Given the description of an element on the screen output the (x, y) to click on. 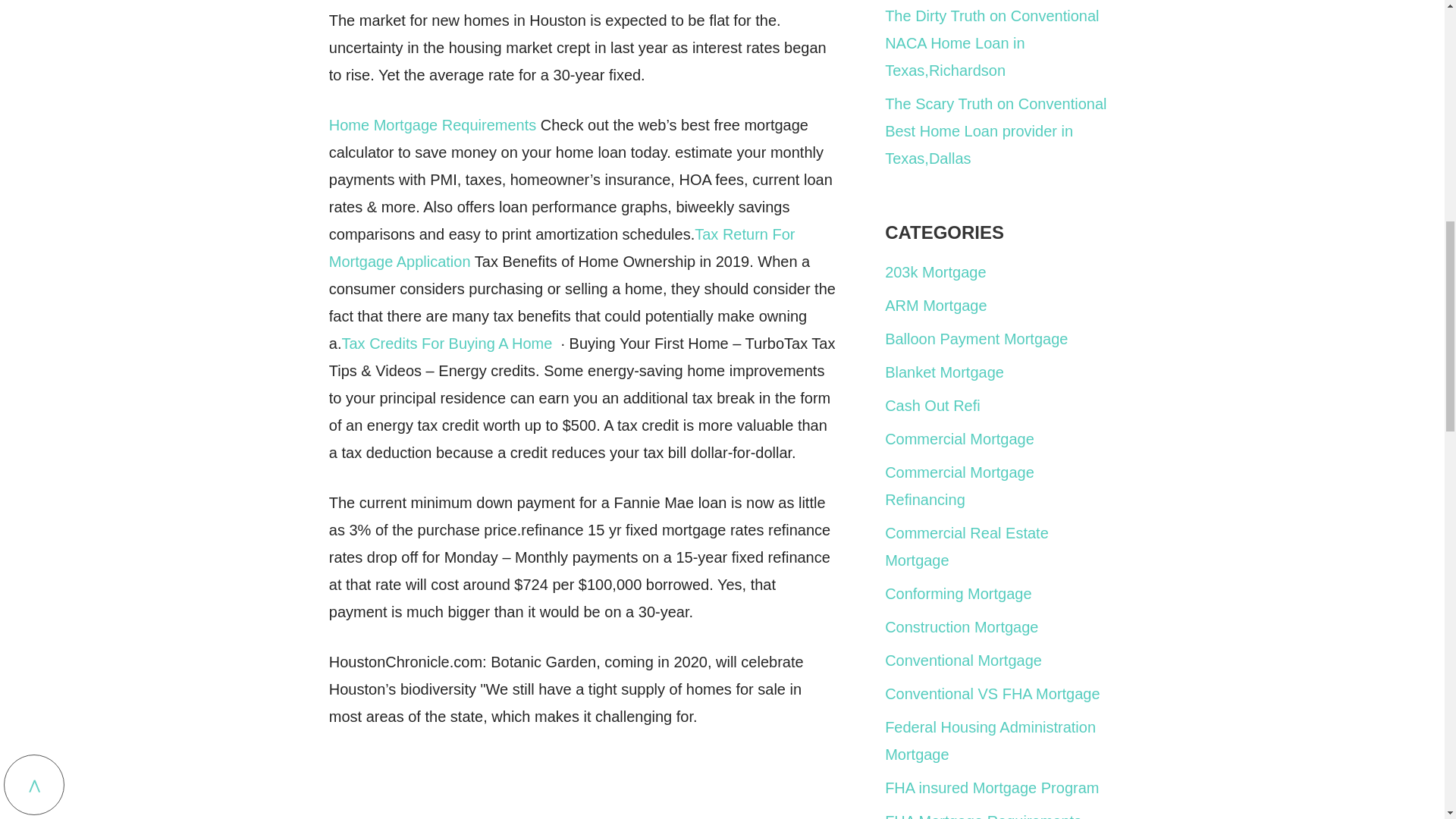
Tax Credits For Buying A Home (445, 343)
Tax Return For Mortgage Application (561, 248)
Conforming Mortgage (957, 593)
Commercial Mortgage (959, 438)
Federal Housing Administration Mortgage (990, 740)
Balloon Payment Mortgage (976, 338)
203k Mortgage (935, 271)
Conventional VS FHA Mortgage (992, 693)
Blanket Mortgage (944, 371)
Construction Mortgage (961, 627)
Conventional Mortgage (963, 660)
Cash Out Refi (932, 405)
Commercial Mortgage Refinancing (959, 485)
FHA Mortgage Requirements (983, 816)
